Given the description of an element on the screen output the (x, y) to click on. 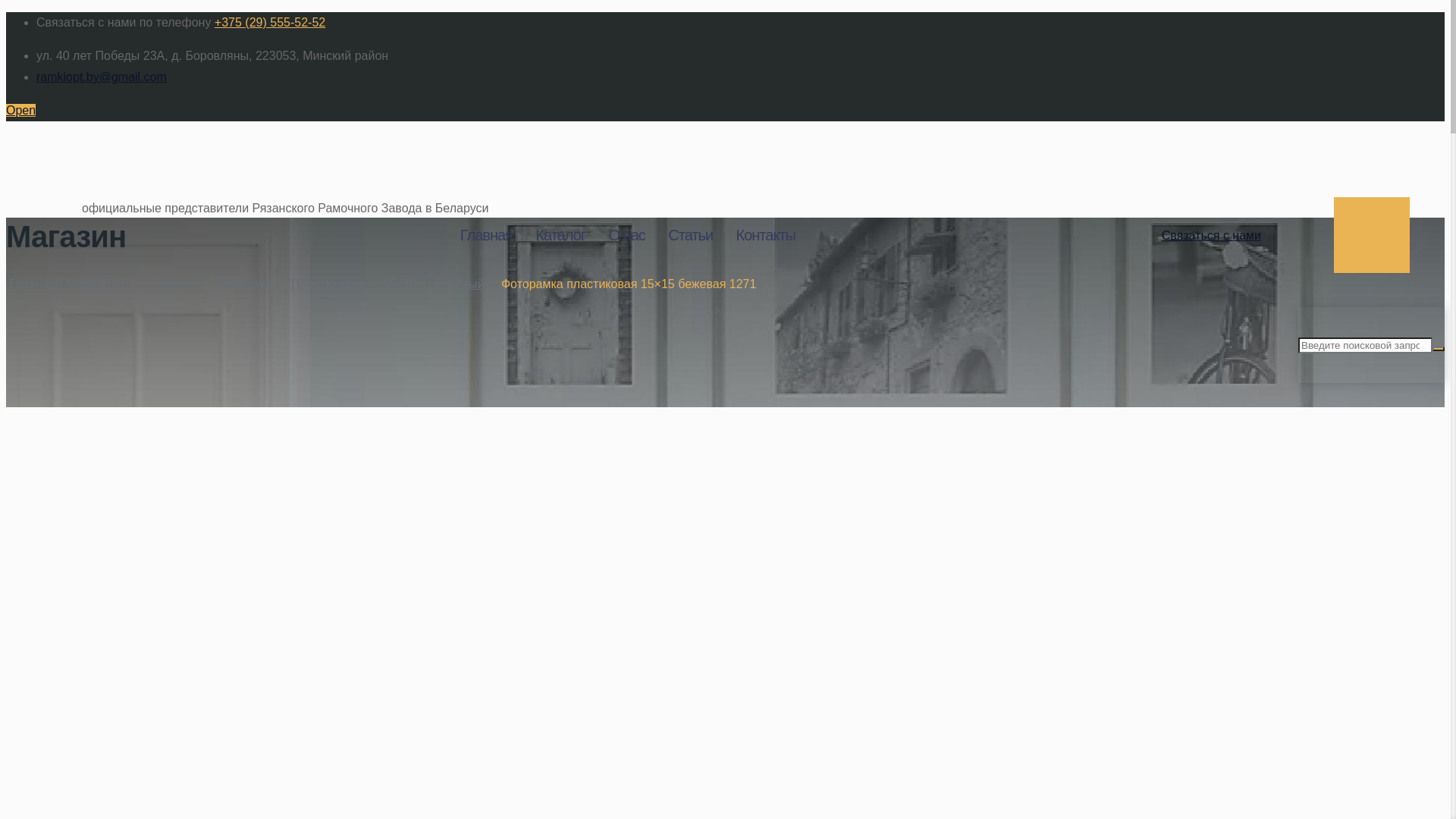
RAMKIOPT.BY Element type: hover (762, 145)
+375 (29) 555-52-52 Element type: text (269, 21)
15x15 Element type: text (399, 283)
Open Element type: text (20, 109)
ramkiopt.by@gmail.com Element type: text (101, 76)
